Given the description of an element on the screen output the (x, y) to click on. 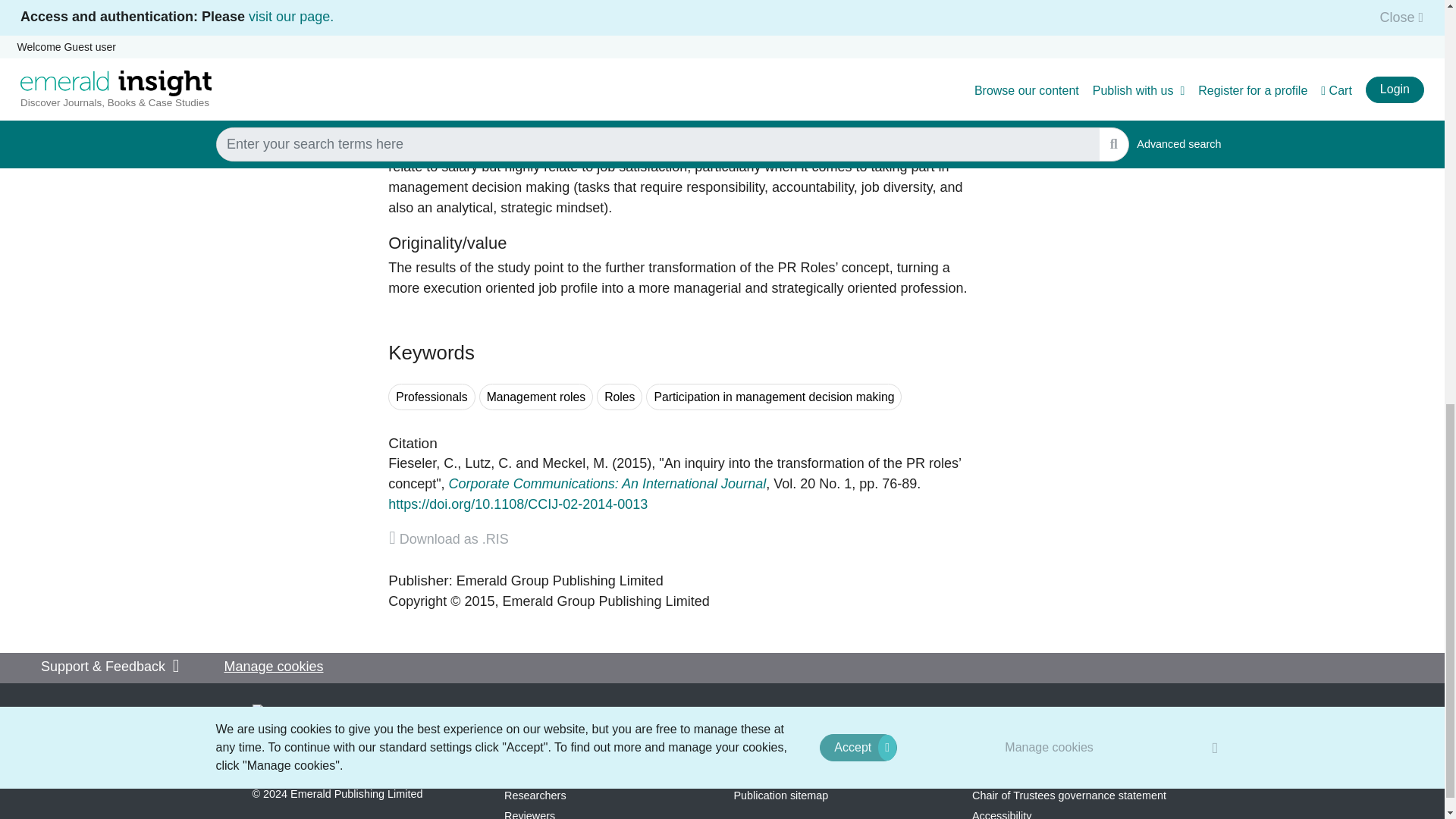
Christian Fieseler (422, 462)
Search for keyword Professionals (432, 397)
Miriam Meckel (574, 462)
Christoph Lutz (488, 462)
Search for keyword Management roles (535, 397)
Search for keyword Roles (619, 397)
